Given the description of an element on the screen output the (x, y) to click on. 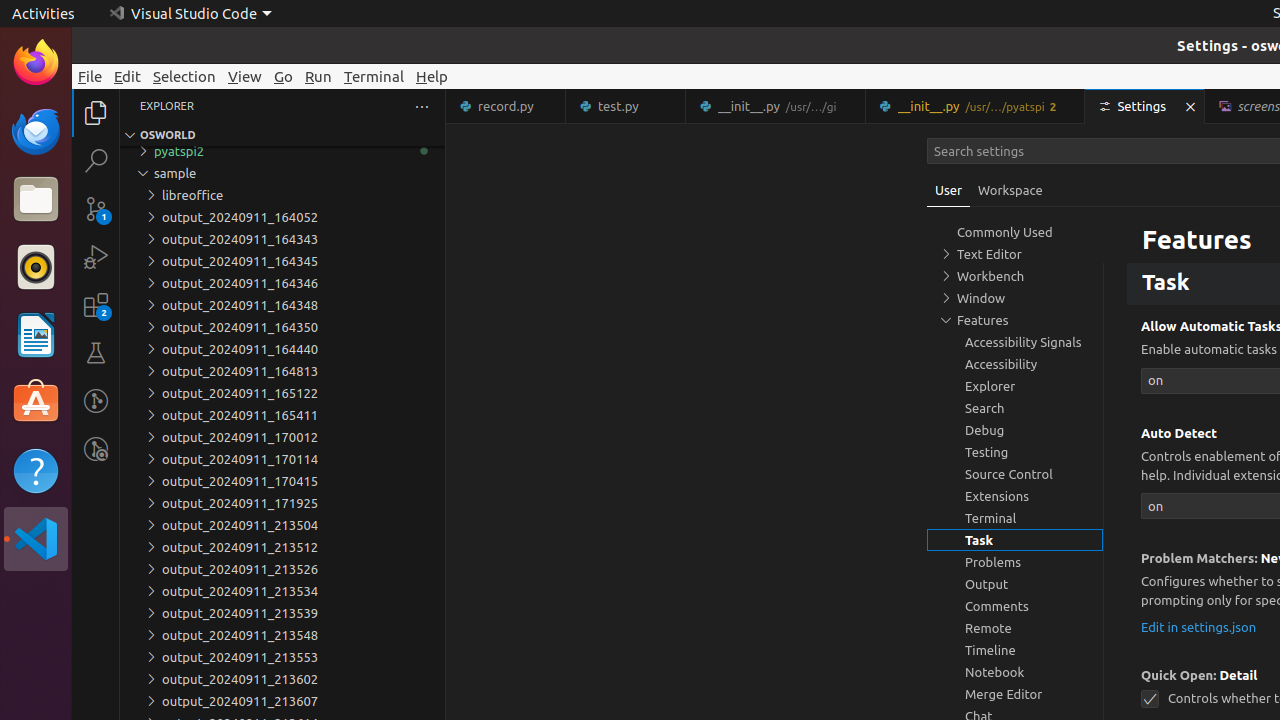
File Element type: push-button (90, 76)
Remote, group Element type: tree-item (1015, 628)
Explorer, group Element type: tree-item (1015, 386)
Accessibility, group Element type: tree-item (1015, 364)
Extensions (Ctrl+Shift+X) - 2 require restart Extensions (Ctrl+Shift+X) - 2 require restart Element type: page-tab (96, 305)
